Given the description of an element on the screen output the (x, y) to click on. 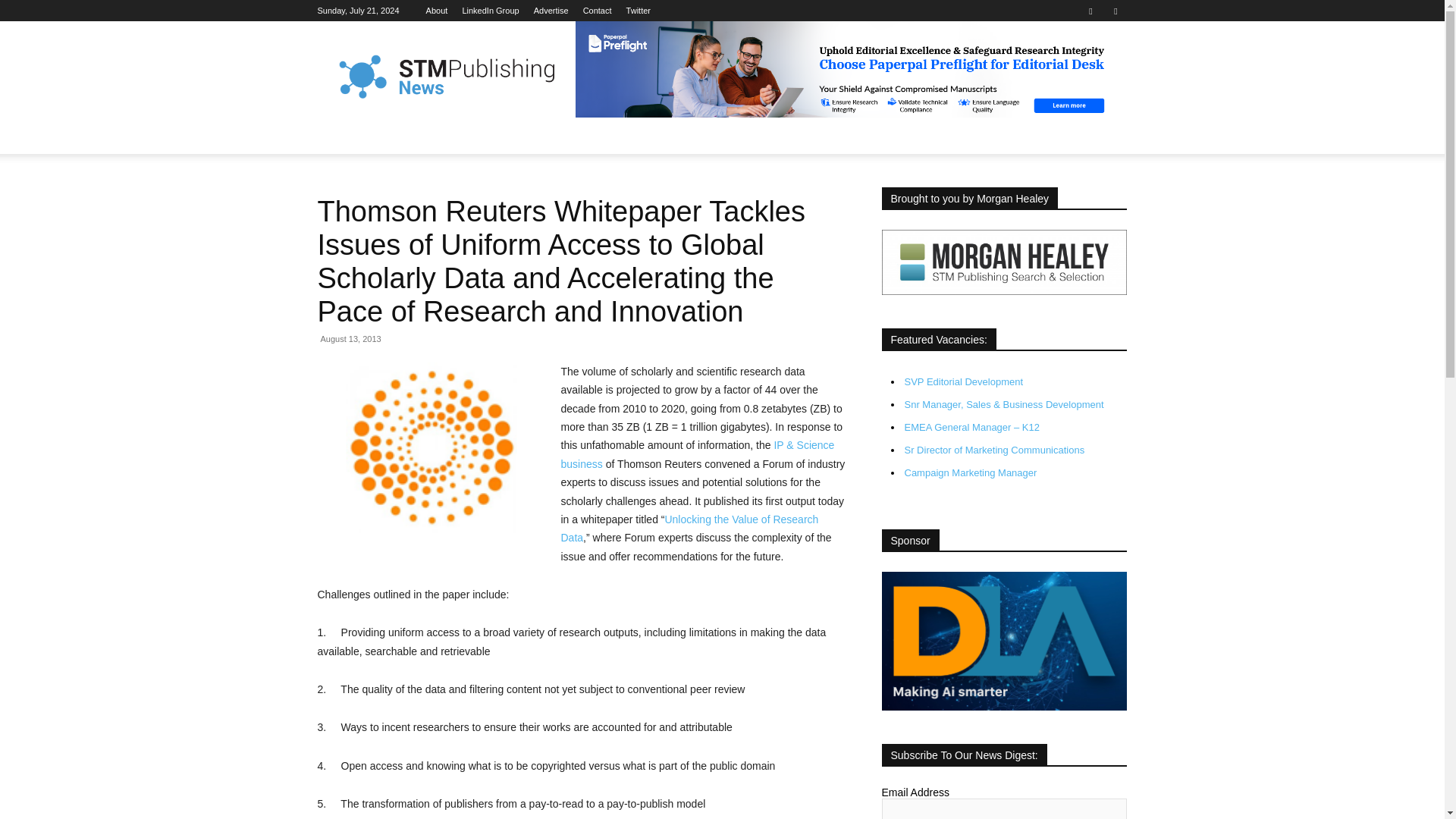
Contact (597, 10)
LinkedIn (489, 10)
HOME (342, 135)
Twitter (1114, 10)
About (437, 10)
Twitter (638, 10)
FEATURED (411, 135)
LinkedIn Group (489, 10)
Linkedin (1090, 10)
Advertise (551, 10)
